Given the description of an element on the screen output the (x, y) to click on. 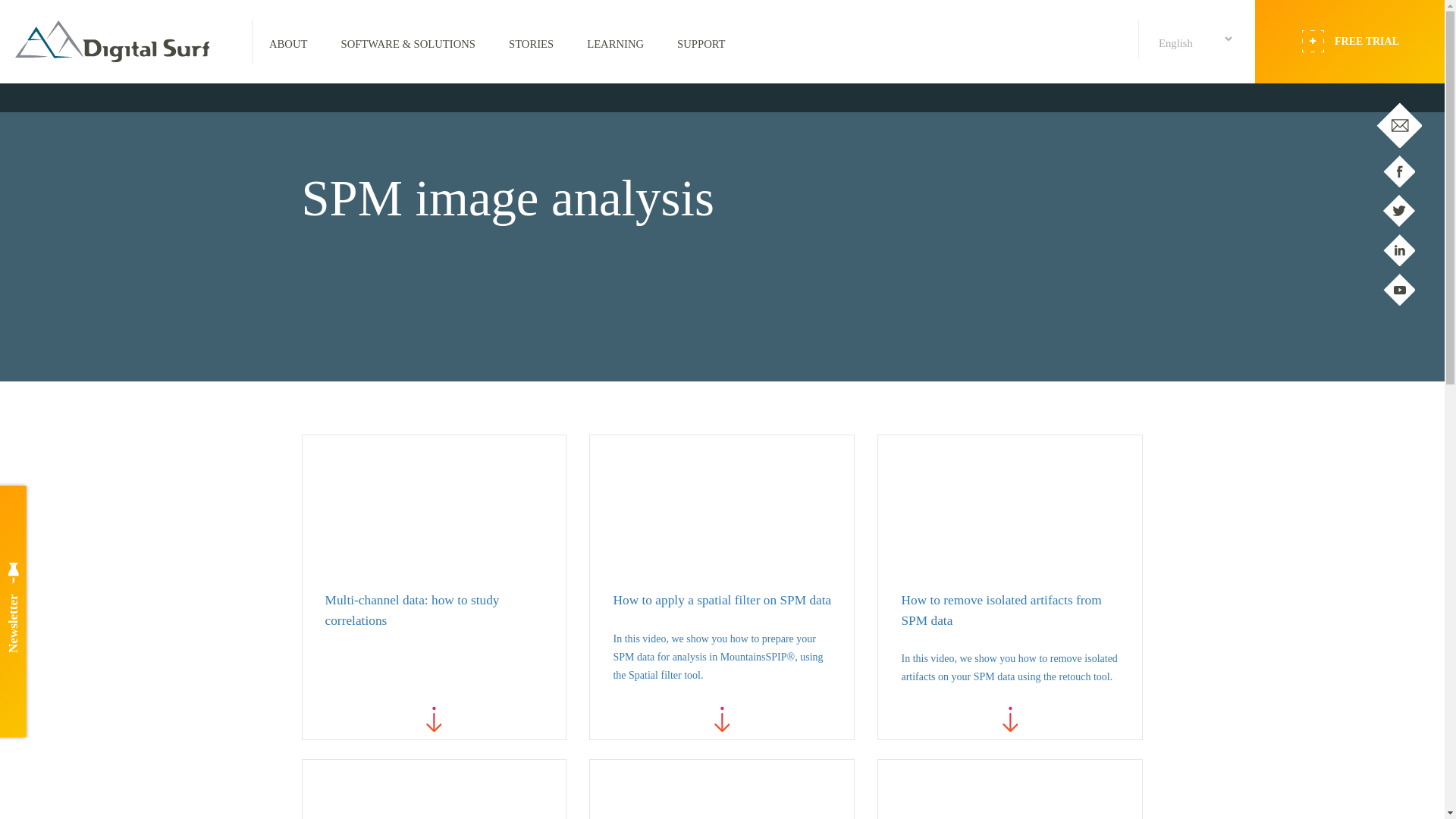
STORIES (531, 41)
SUPPORT (701, 41)
ABOUT (287, 41)
LEARNING (615, 41)
